Given the description of an element on the screen output the (x, y) to click on. 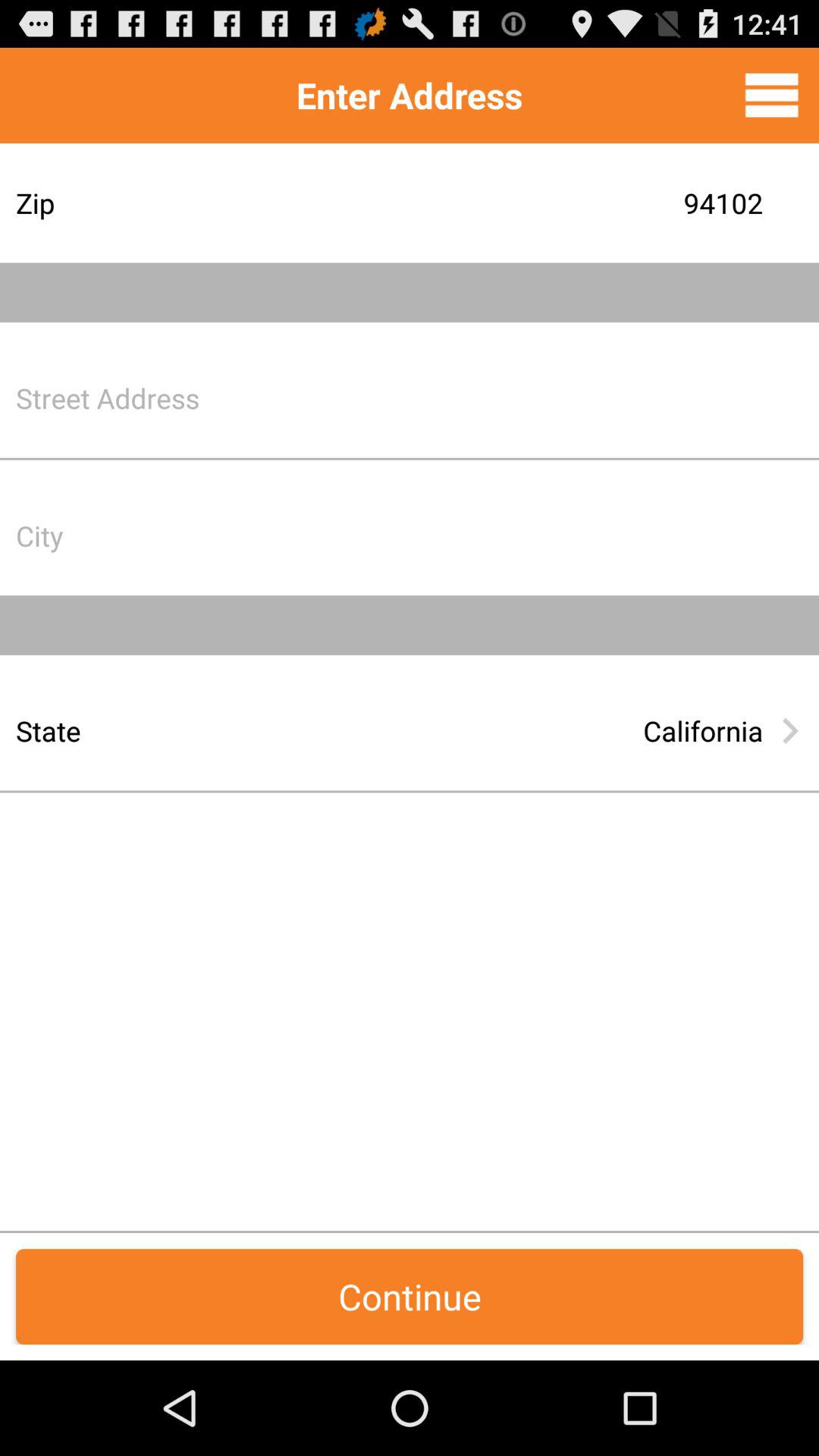
select the icon next to the enter address (771, 95)
